Given the description of an element on the screen output the (x, y) to click on. 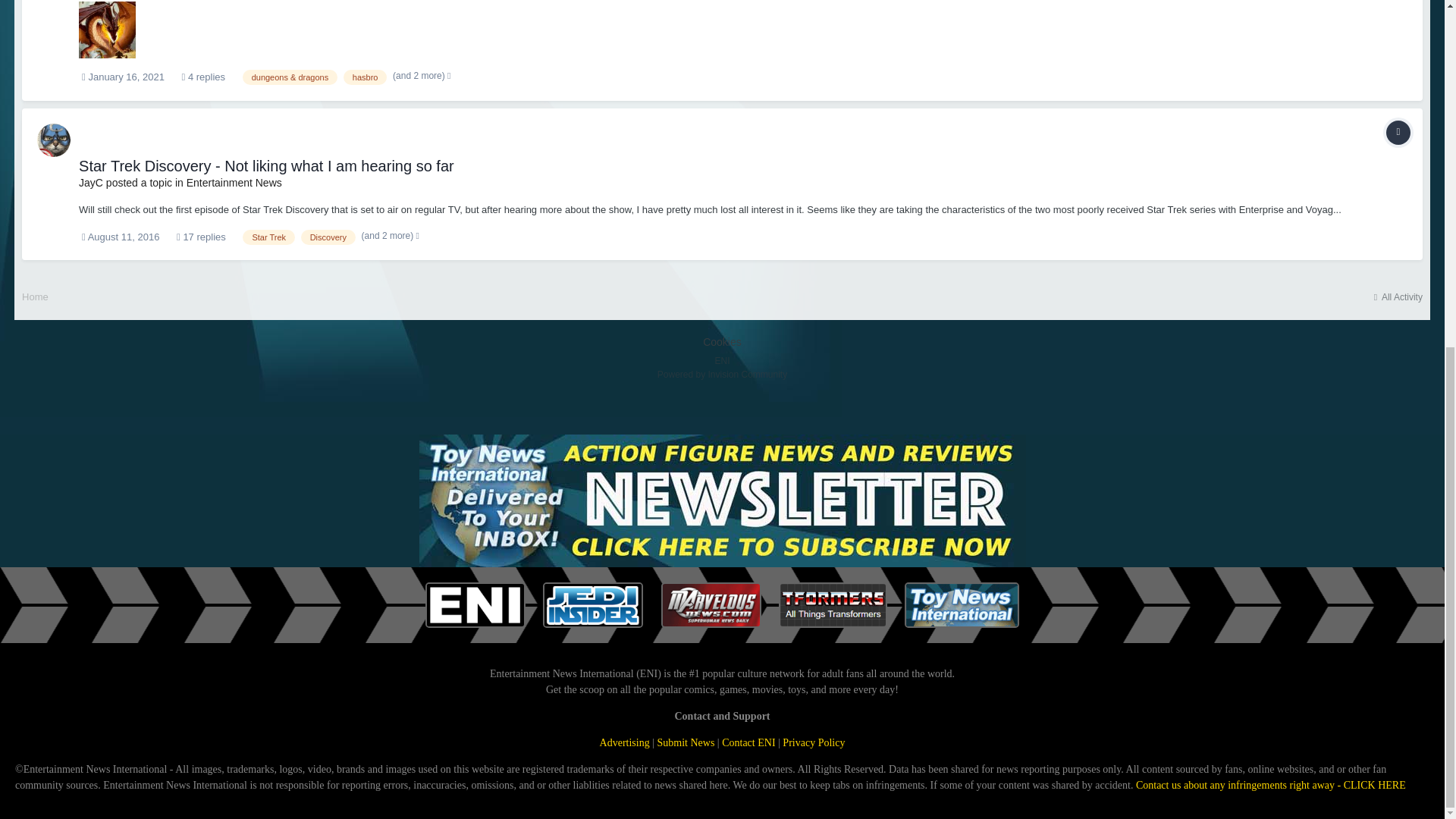
Go to JayC's profile (90, 182)
Find other content tagged with 'Discovery' (328, 237)
Find other content tagged with 'hasbro' (365, 77)
Topic (1398, 132)
Find other content tagged with 'Star Trek' (269, 237)
Go to JayC's profile (53, 140)
